Given the description of an element on the screen output the (x, y) to click on. 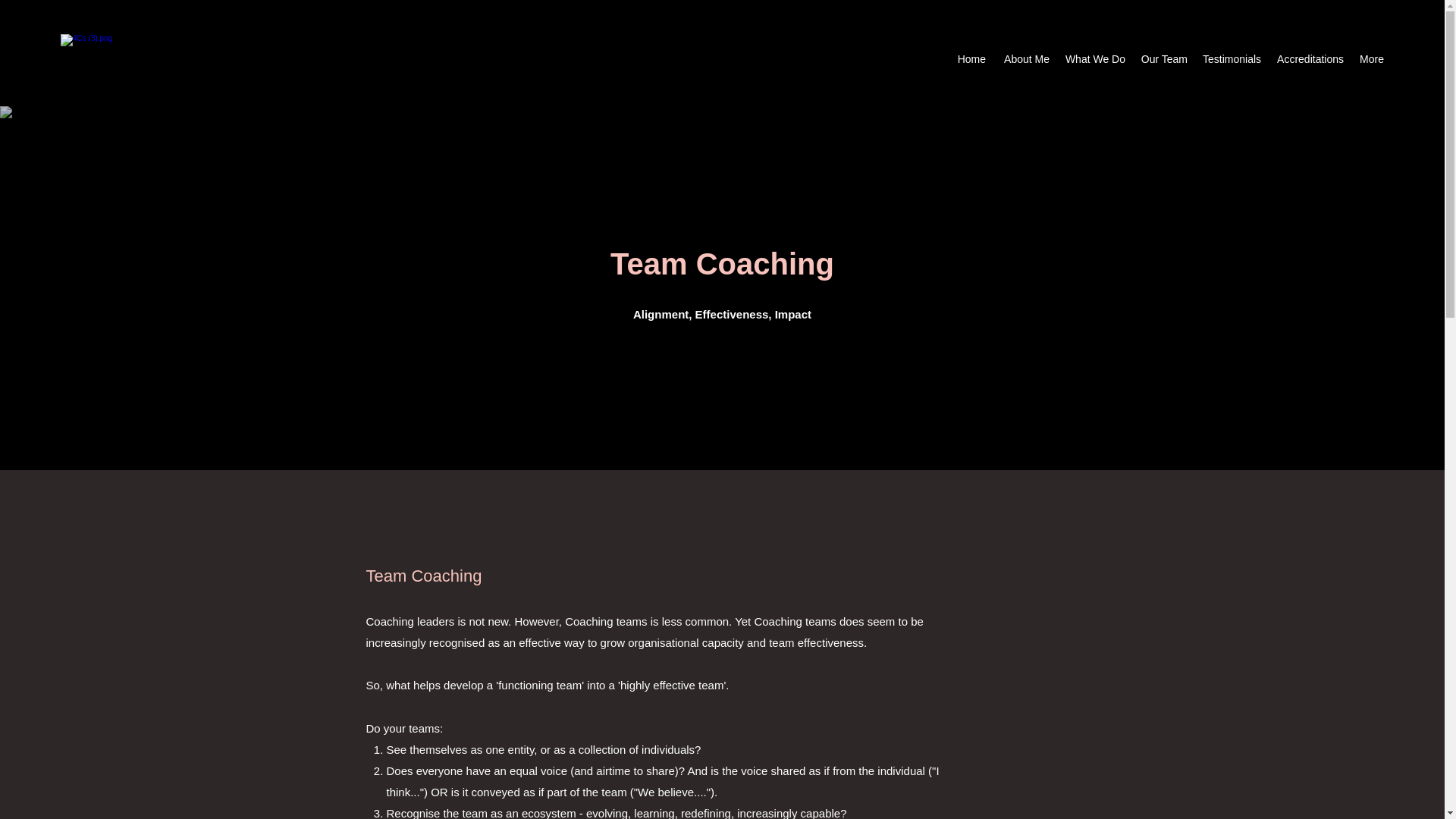
Testimonials (1230, 58)
What We Do (1094, 58)
Our Team (1163, 58)
Home (970, 58)
About Me (1024, 58)
Accreditations (1308, 58)
